Given the description of an element on the screen output the (x, y) to click on. 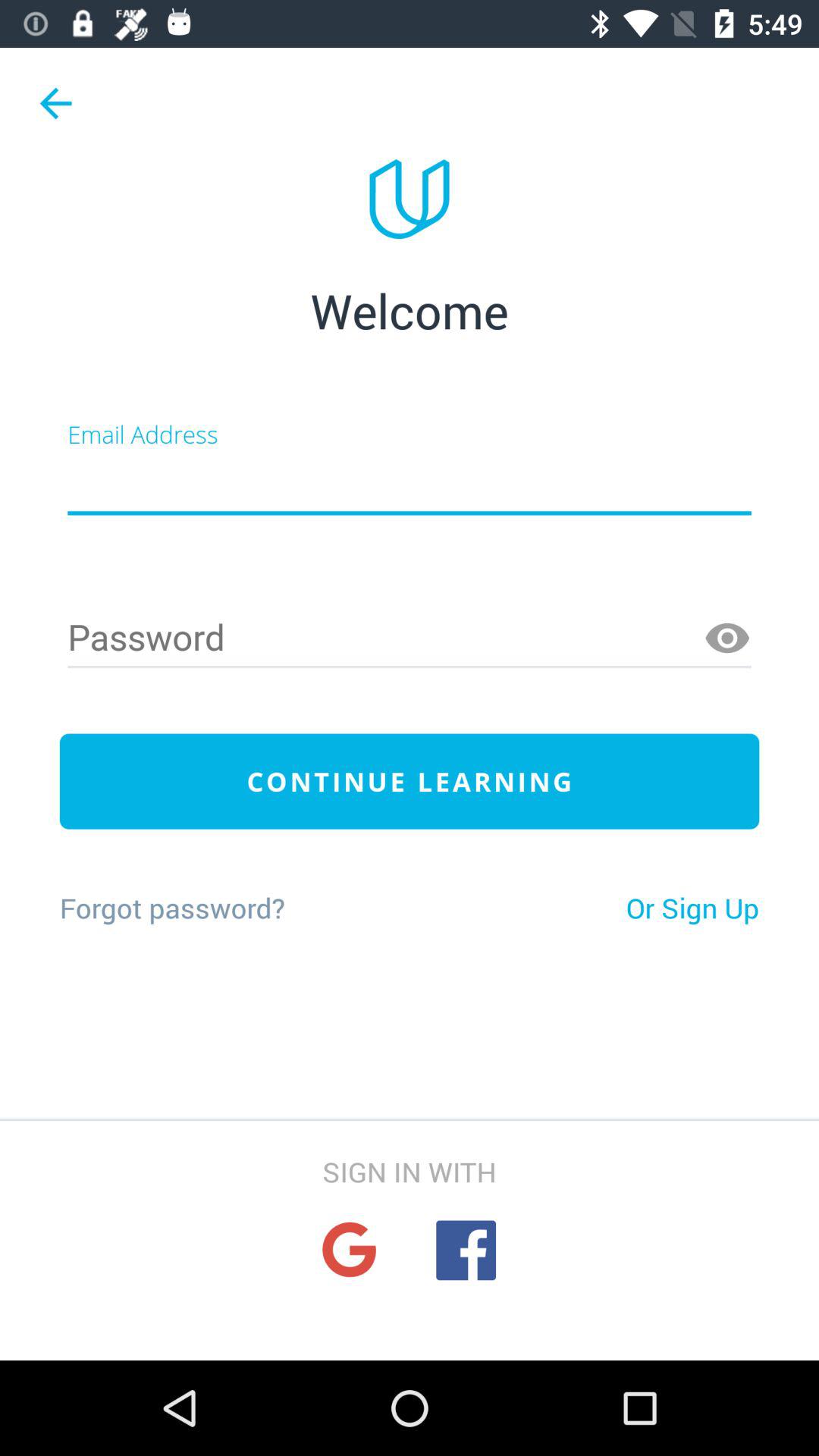
show button (727, 638)
